Given the description of an element on the screen output the (x, y) to click on. 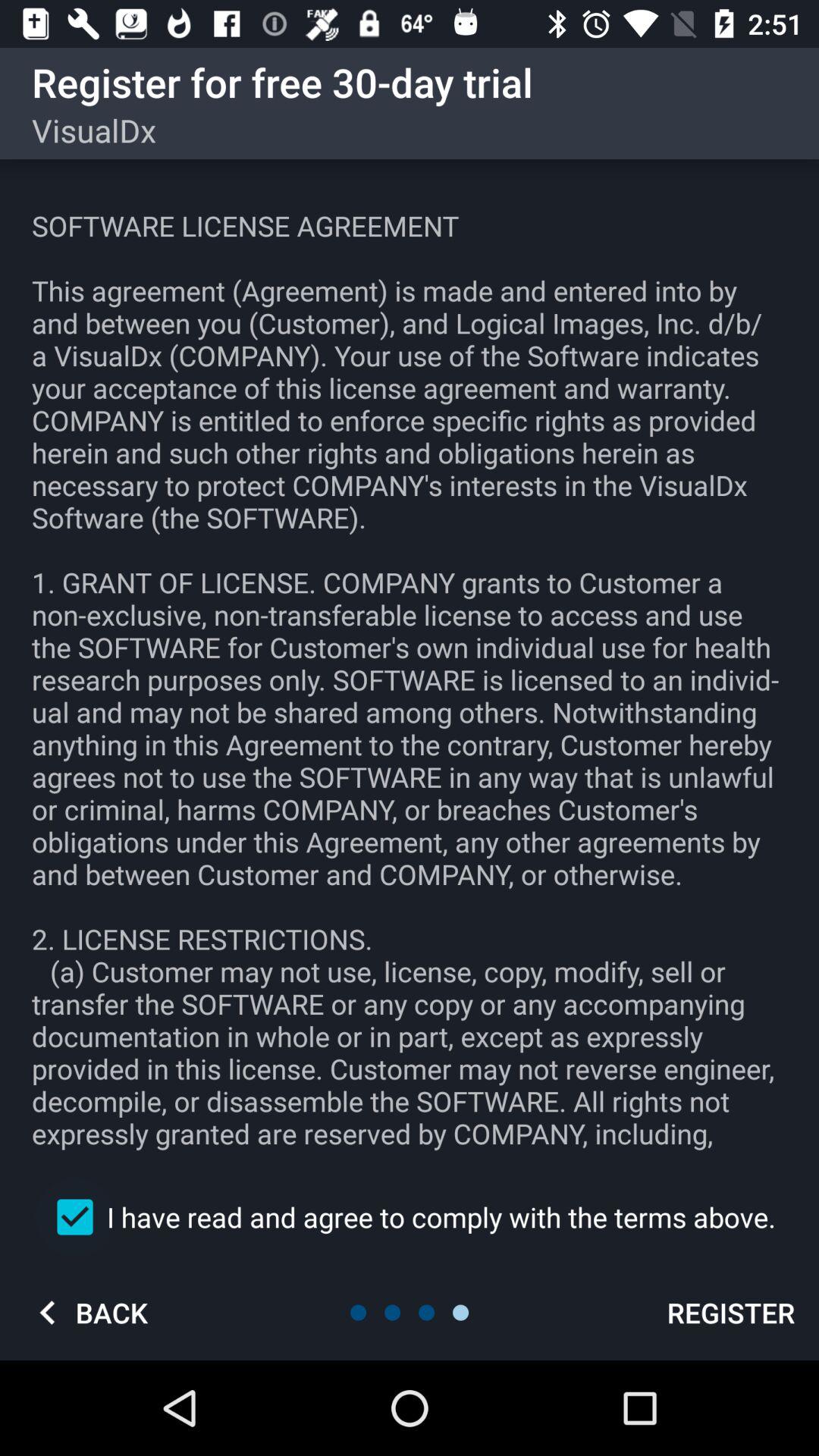
select the icon at the bottom left corner (87, 1312)
